Given the description of an element on the screen output the (x, y) to click on. 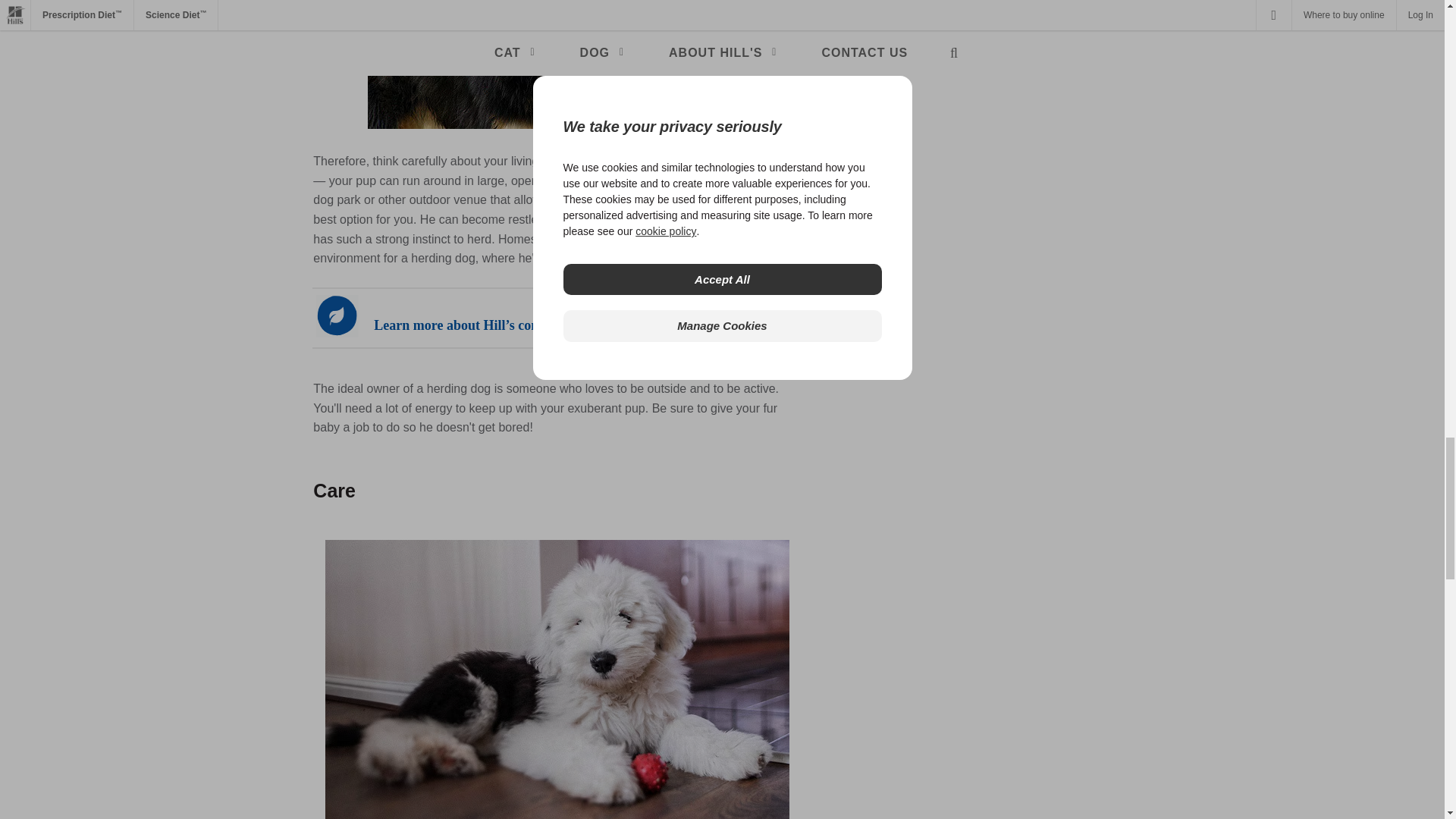
Learn more about sustainability (556, 317)
old-english-sheepdog-puppy (556, 679)
black-australia-shepherd (557, 64)
